Given the description of an element on the screen output the (x, y) to click on. 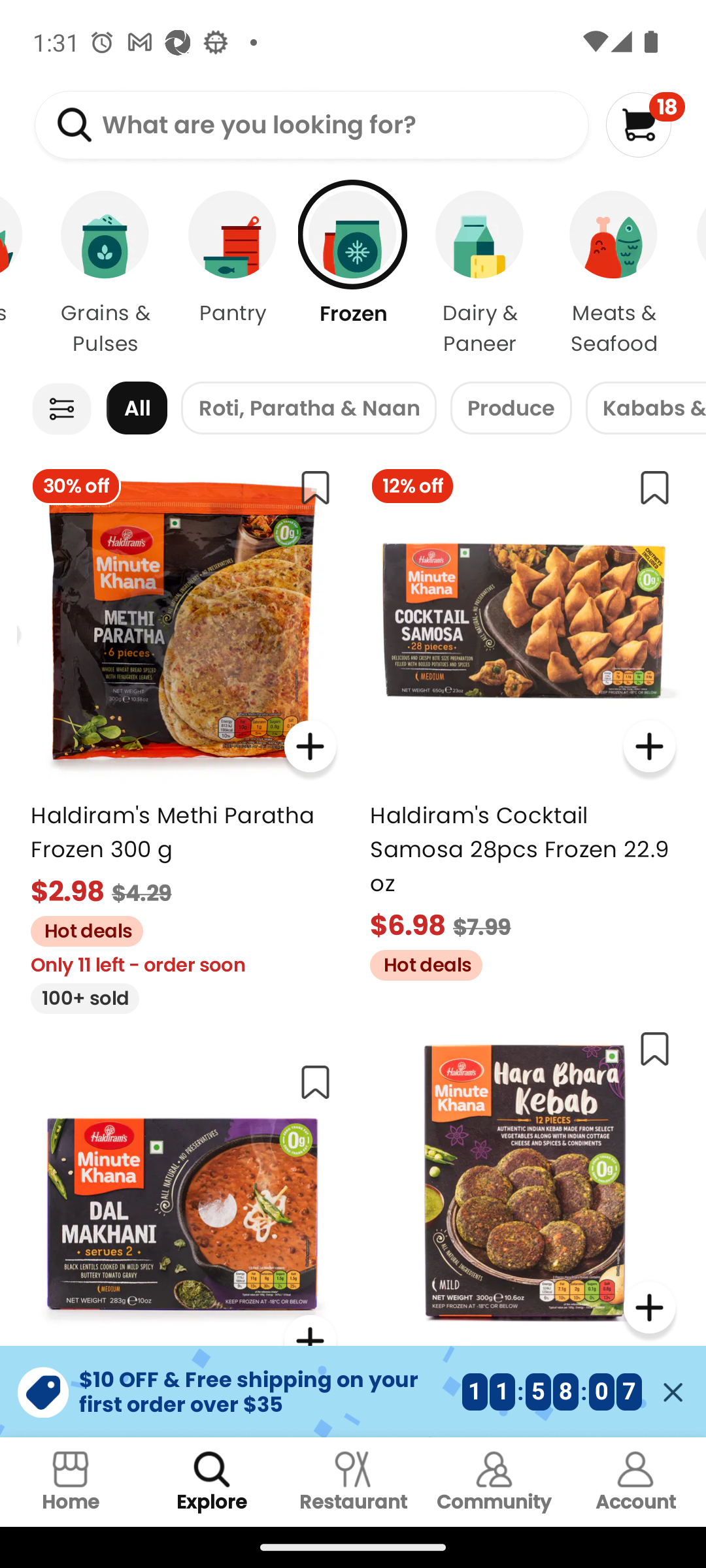
What are you looking for? (311, 124)
18 (644, 124)
Grains & Pulses (105, 274)
Pantry (232, 274)
Frozen (352, 274)
Dairy & Paneer (480, 274)
Meats & Seafood (614, 274)
All (136, 407)
Roti, Paratha & Naan (308, 407)
Produce (510, 407)
Kababs & Patties (645, 407)
Hot deals (79, 929)
Hot deals (419, 961)
Haldiram's Minute Khana Dal Makhani, Frozen 283 g (182, 1242)
Home (70, 1482)
Explore (211, 1482)
Restaurant (352, 1482)
Community (493, 1482)
Account (635, 1482)
